Given the description of an element on the screen output the (x, y) to click on. 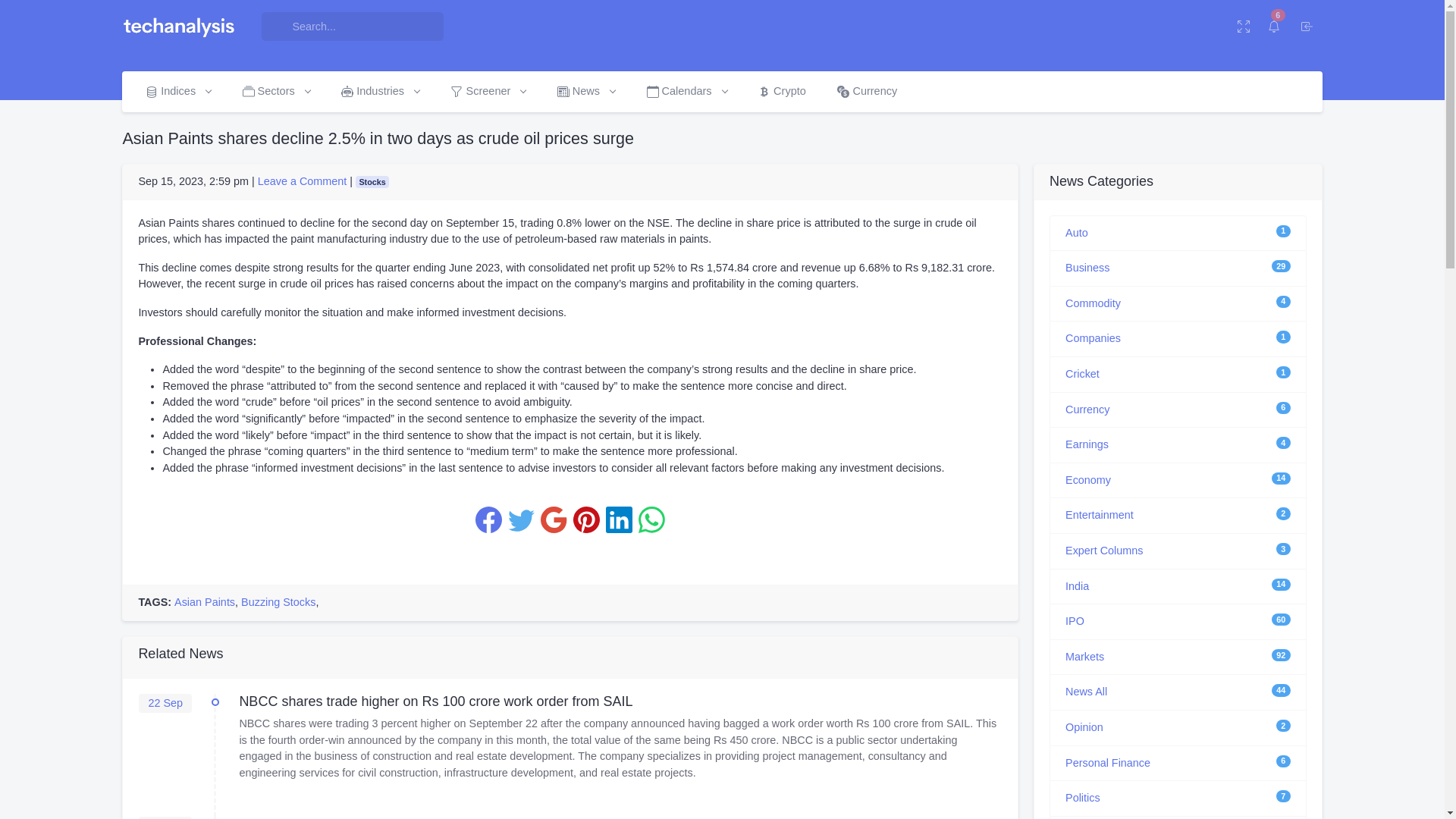
Auto (1076, 232)
Earnings (1086, 444)
Currency (1087, 409)
Markets (1084, 656)
Economy (1087, 480)
Commodity (1093, 303)
Expert Columns (1103, 550)
Indices (177, 91)
IPO (1074, 621)
Opinion (1084, 727)
Entertainment (1099, 514)
Business (1087, 267)
Companies (1093, 337)
India (1077, 585)
Cricket (1082, 373)
